Given the description of an element on the screen output the (x, y) to click on. 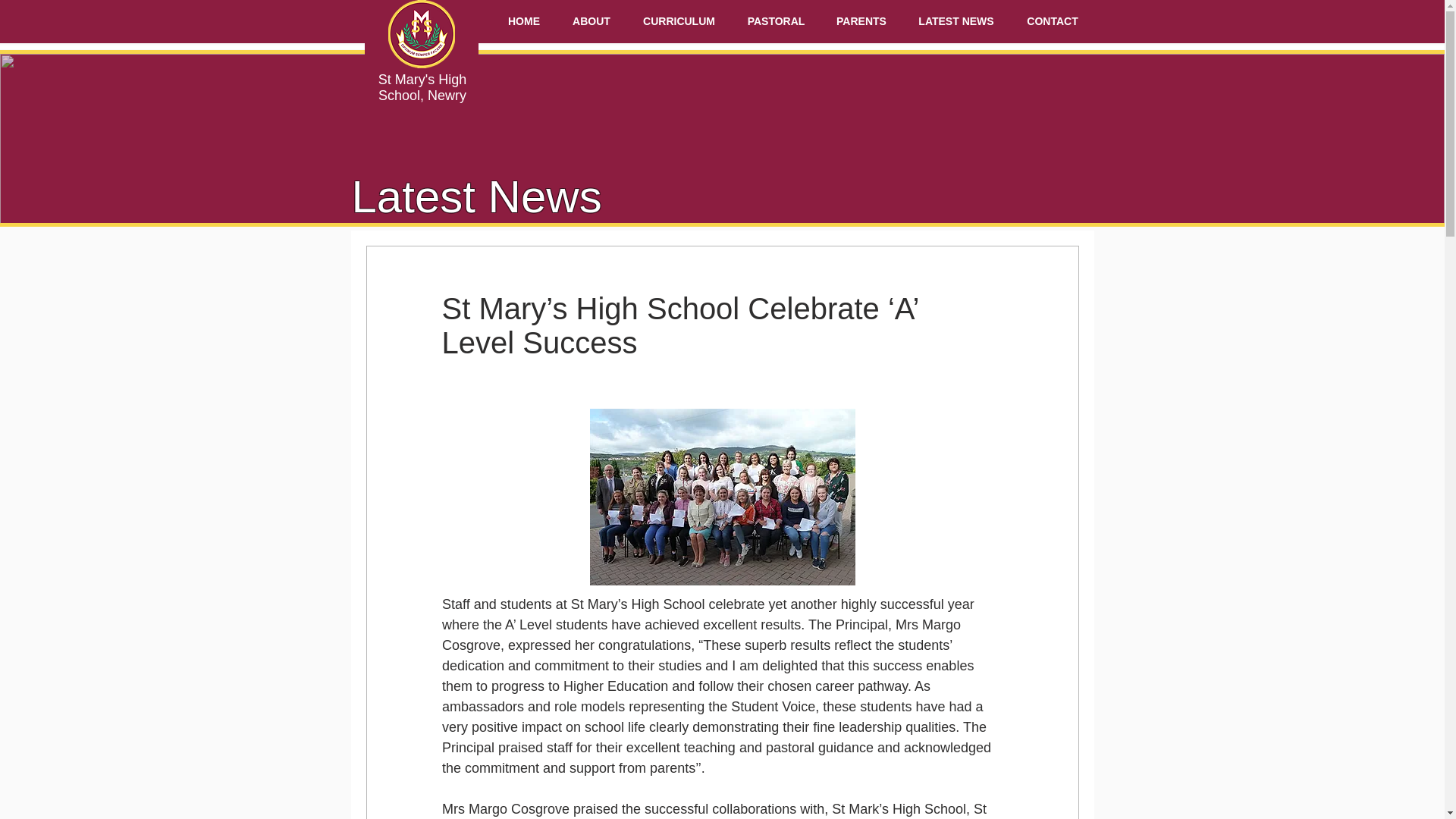
HOME (524, 21)
